Given the description of an element on the screen output the (x, y) to click on. 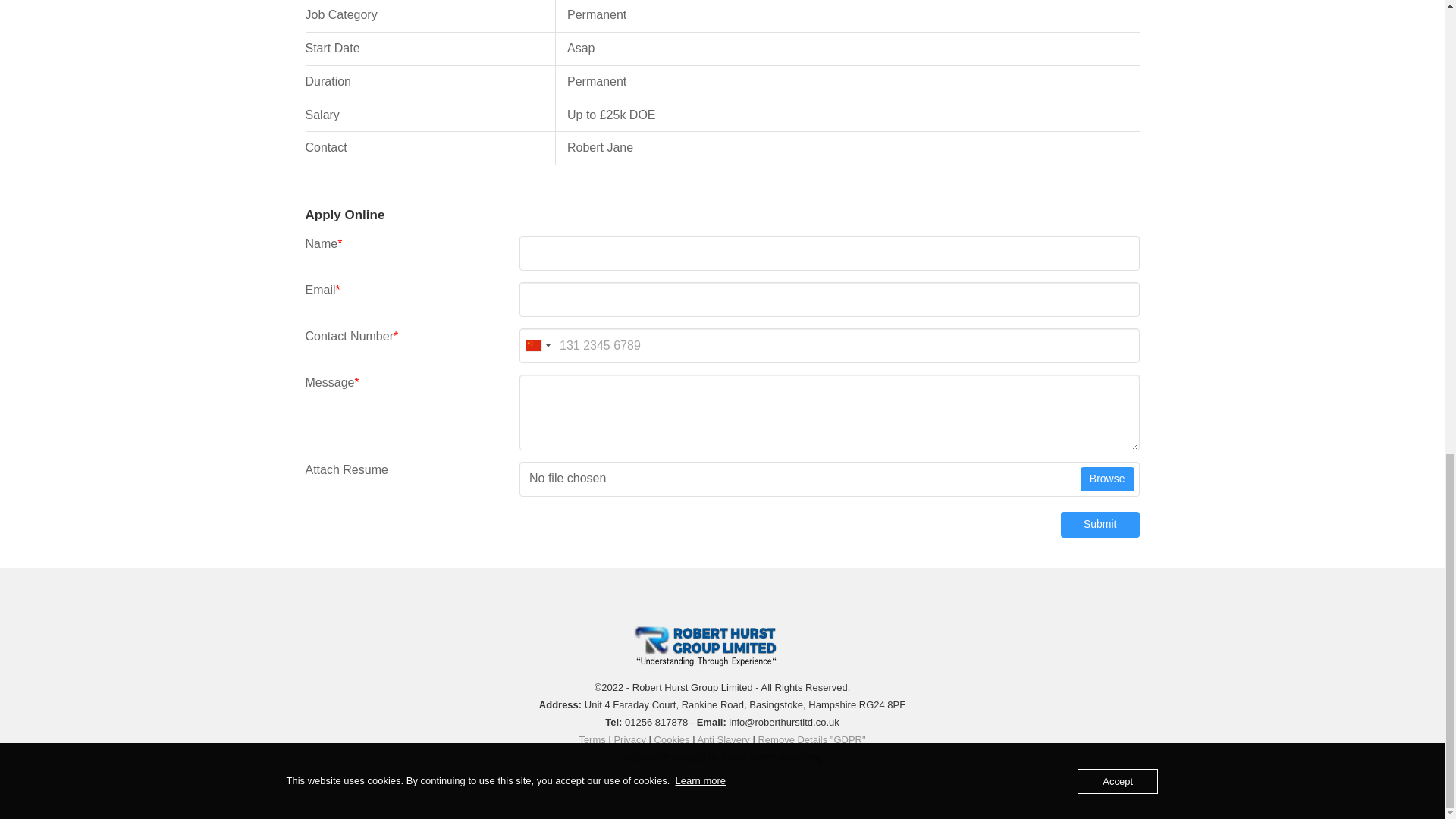
Submit (1100, 524)
Terms (591, 739)
Cookies (671, 739)
Website developed by Steve Welsh Marketing (721, 757)
Anti Slavery (723, 739)
Robert Hurst Group Ltd. (716, 645)
Remove Details "GDPR" (810, 739)
Privacy (629, 739)
